Given the description of an element on the screen output the (x, y) to click on. 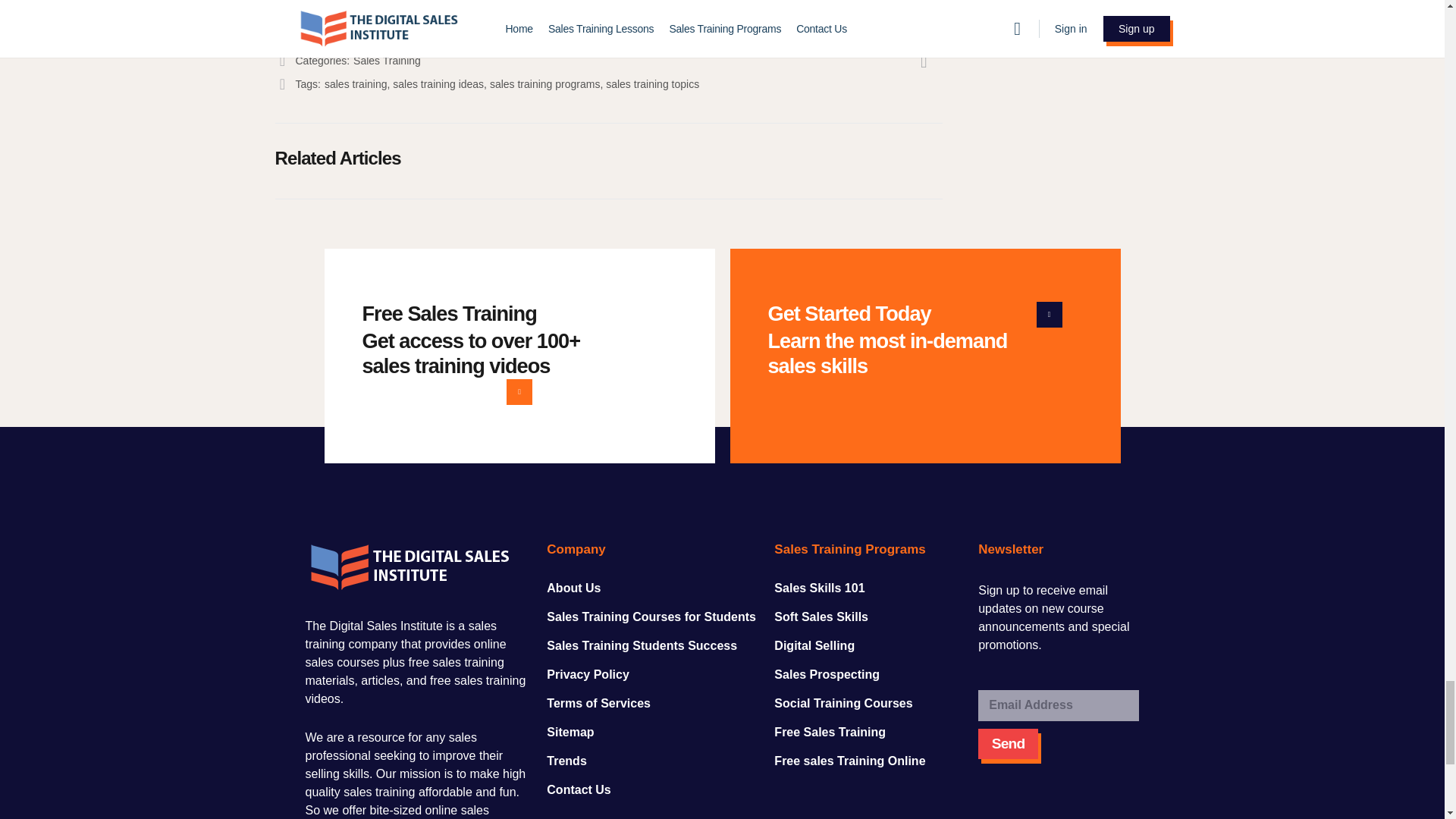
sales training topics (651, 83)
sales training programs (544, 83)
sales training (355, 83)
sales training ideas (438, 83)
Sales Training (386, 60)
